Given the description of an element on the screen output the (x, y) to click on. 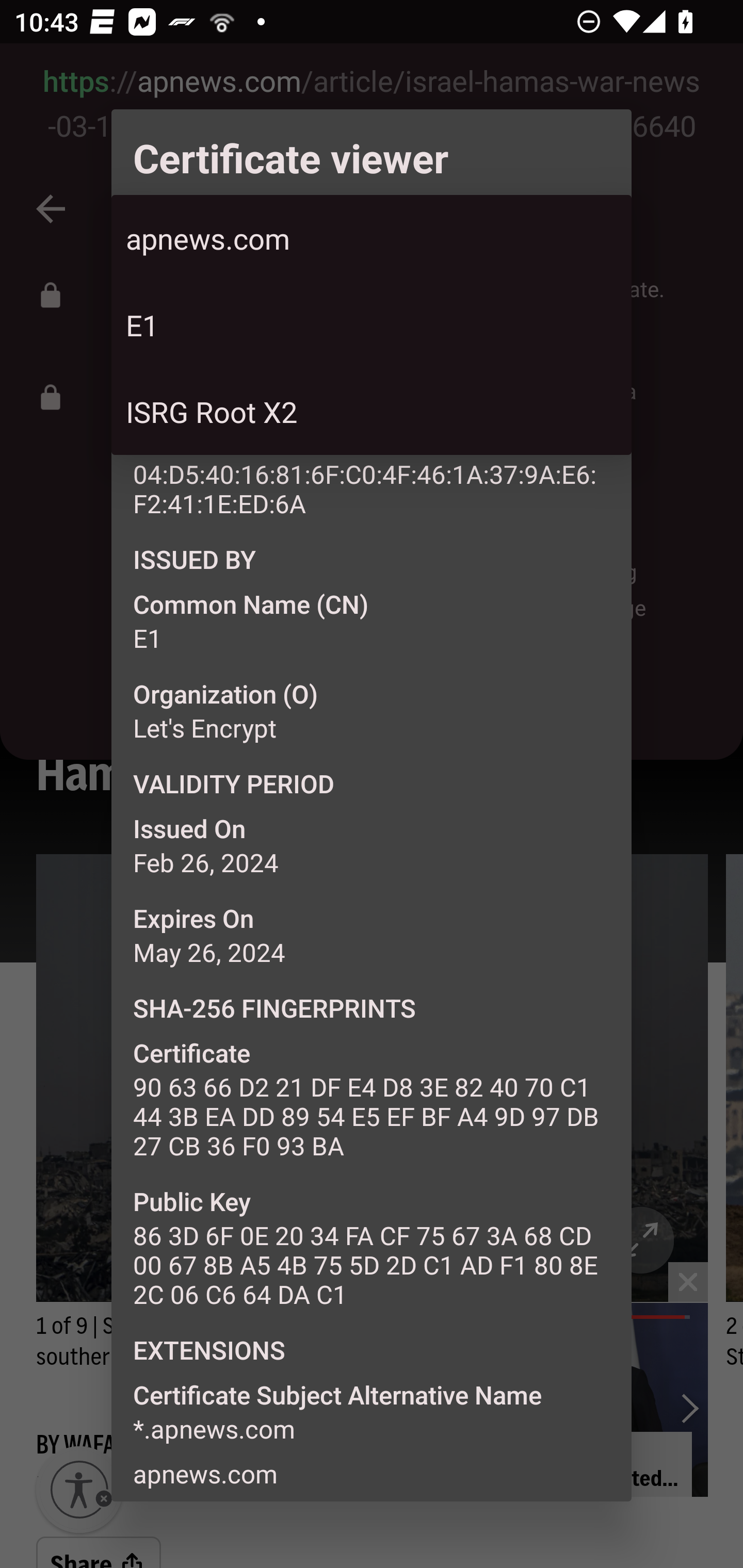
apnews.com (371, 238)
E1 (371, 325)
ISRG Root X2 (371, 411)
